Given the description of an element on the screen output the (x, y) to click on. 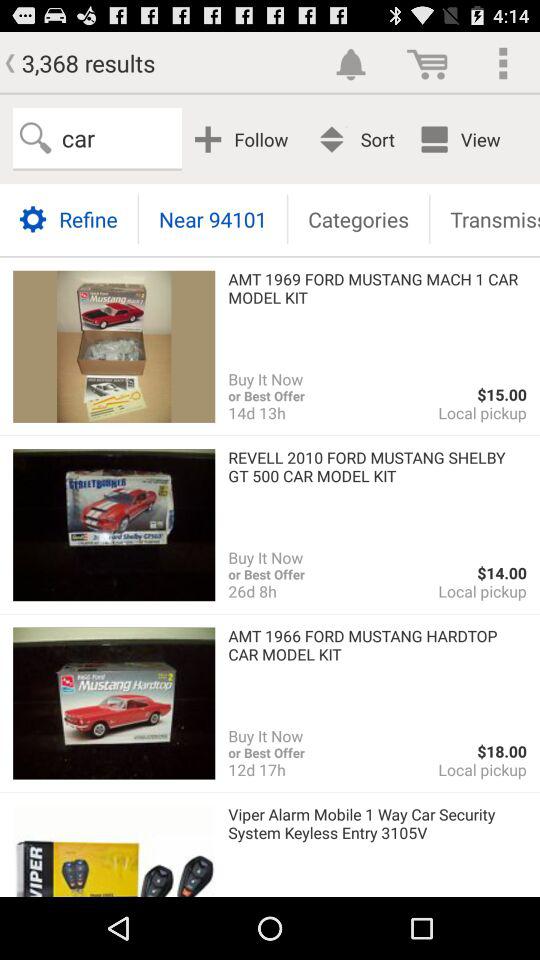
turn on the item above amt 1969 ford icon (358, 218)
